Given the description of an element on the screen output the (x, y) to click on. 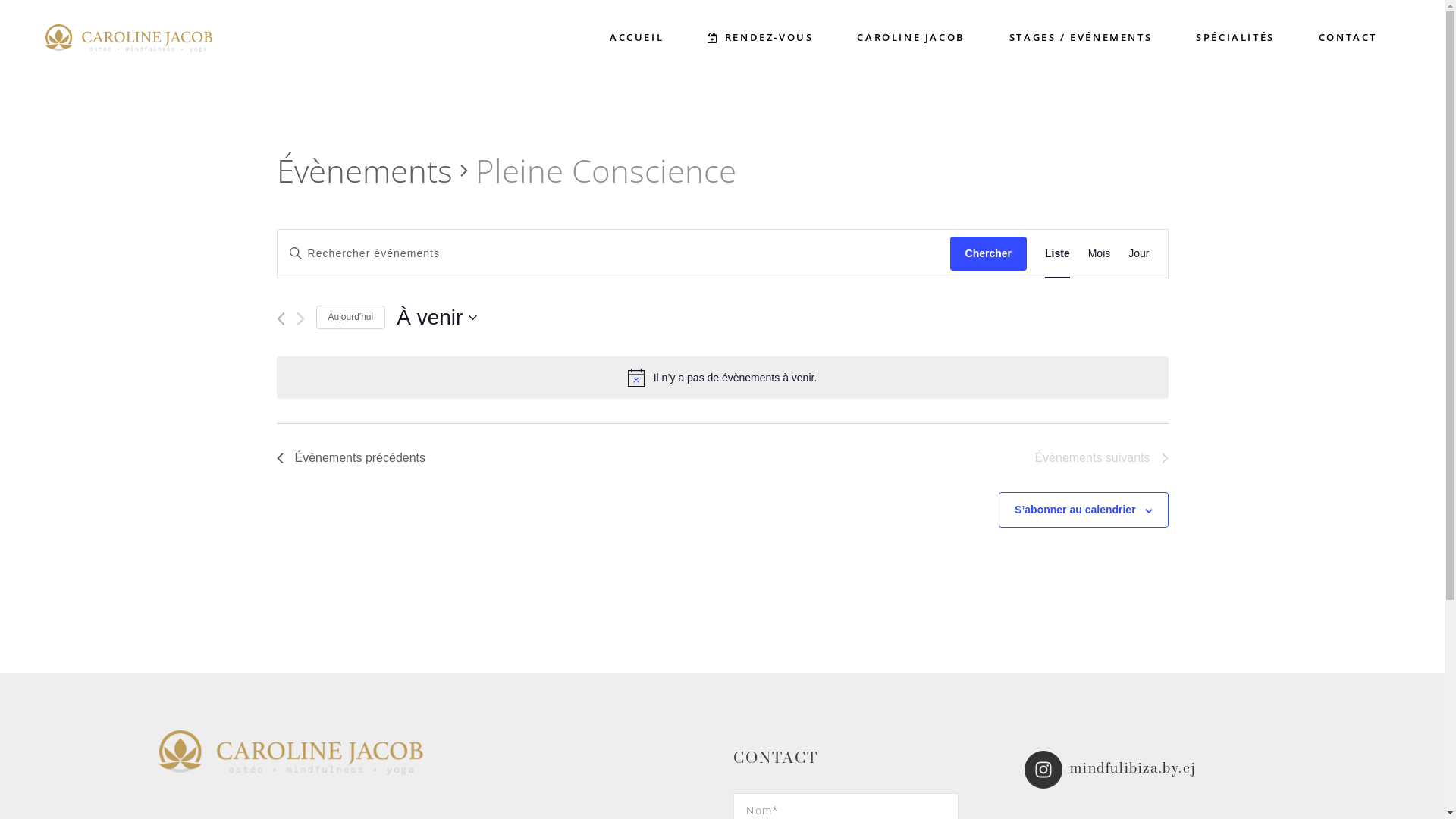
Aujourd'hui Element type: text (350, 317)
Jour Element type: text (1138, 253)
mindfulibiza.by.cj Element type: text (1156, 769)
RENDEZ-VOUS Element type: text (759, 37)
ACCUEIL Element type: text (636, 37)
CONTACT Element type: text (1347, 37)
Liste Element type: text (1057, 253)
Mois Element type: text (1099, 253)
CAROLINE JACOB Element type: text (910, 37)
Chercher Element type: text (988, 253)
